Given the description of an element on the screen output the (x, y) to click on. 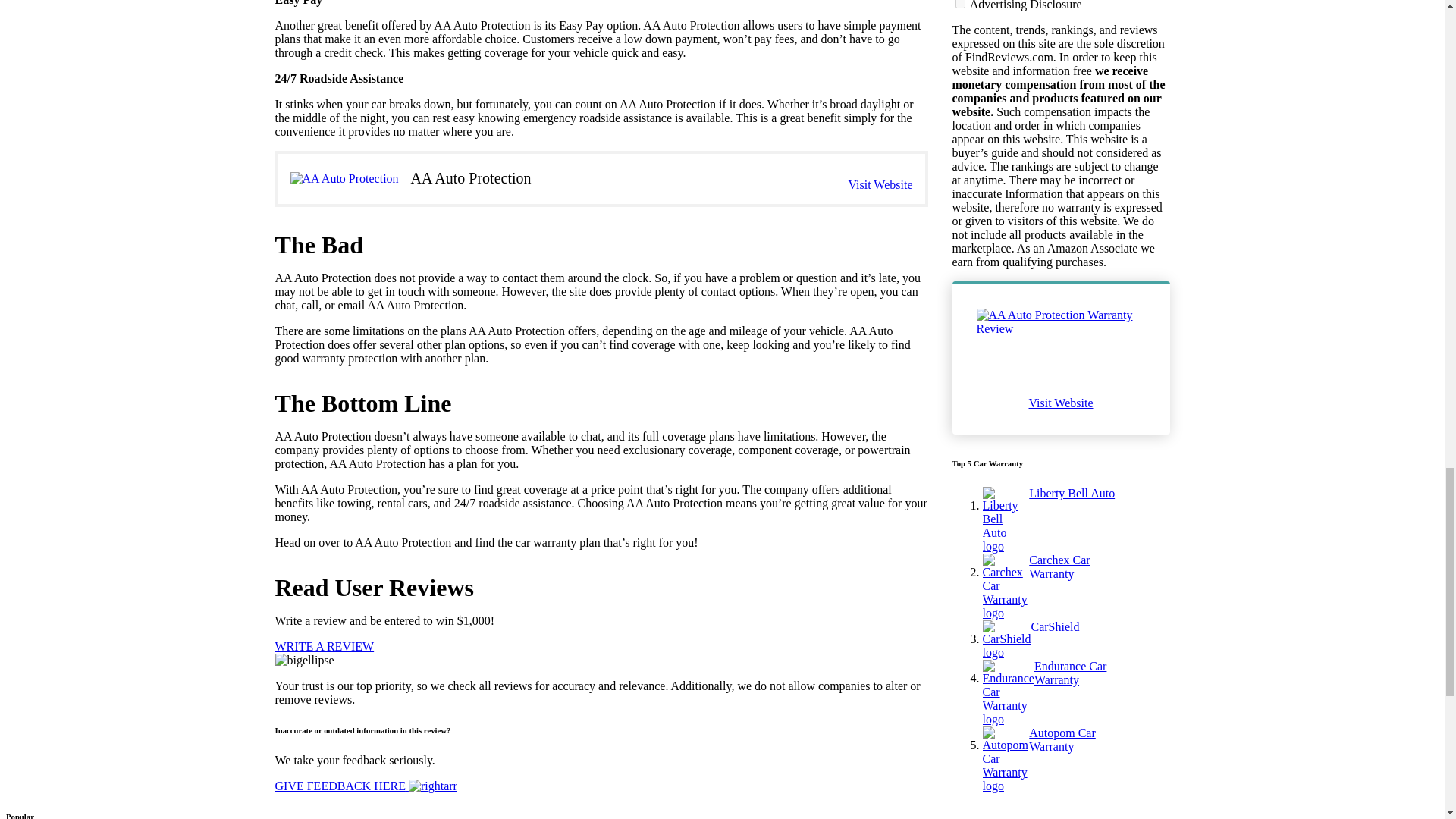
GIVE FEEDBACK HERE (366, 785)
WRITE A REVIEW (324, 645)
Visit Website (879, 184)
